Given the description of an element on the screen output the (x, y) to click on. 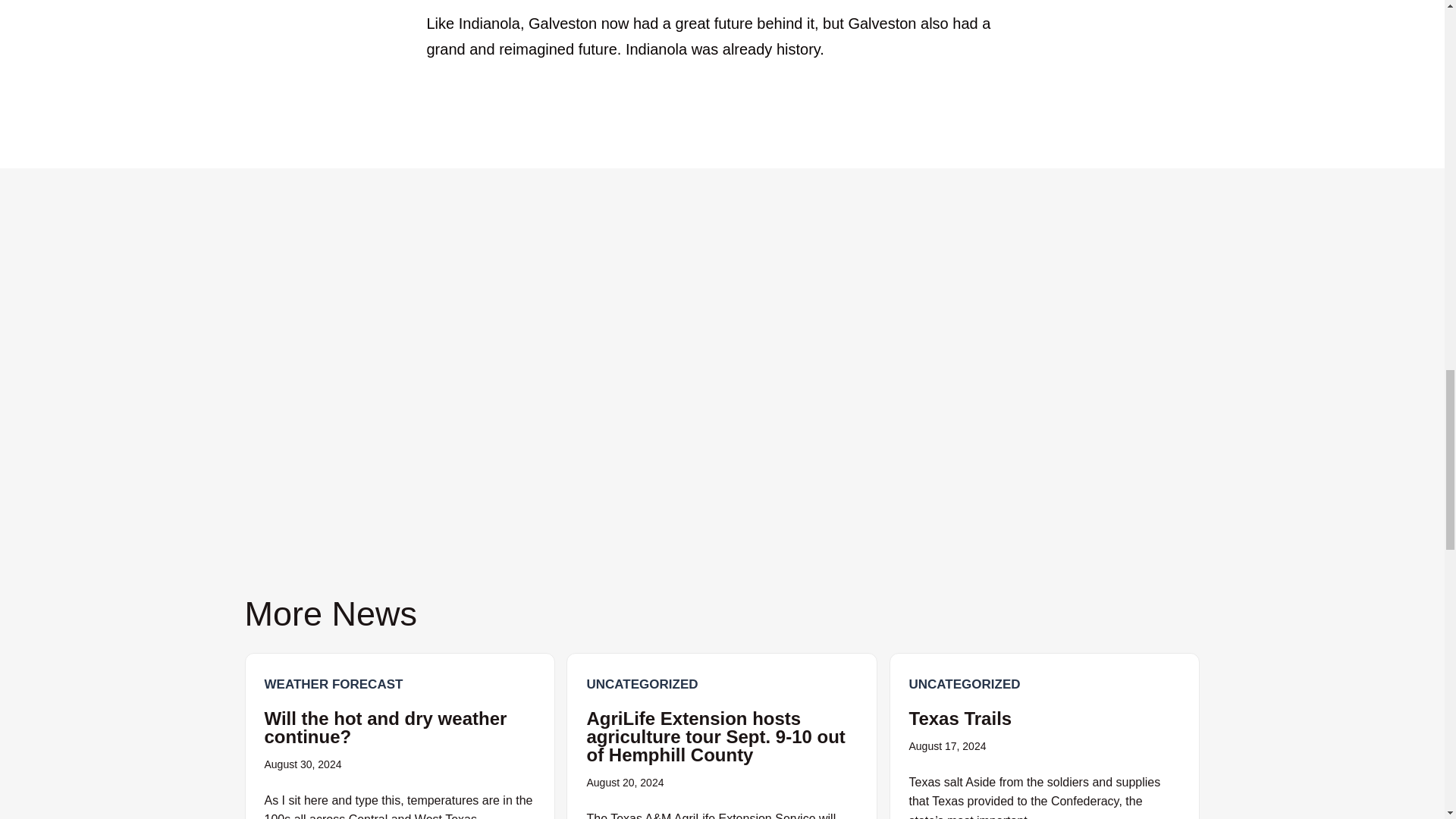
WEATHER FORECAST (333, 684)
Will the hot and dry weather continue? (384, 727)
Texas Trails (959, 718)
View Box Content (1044, 735)
View Box Content (399, 735)
View Box Content (721, 735)
Will the hot and dry weather continue? (384, 727)
UNCATEGORIZED (641, 684)
